Given the description of an element on the screen output the (x, y) to click on. 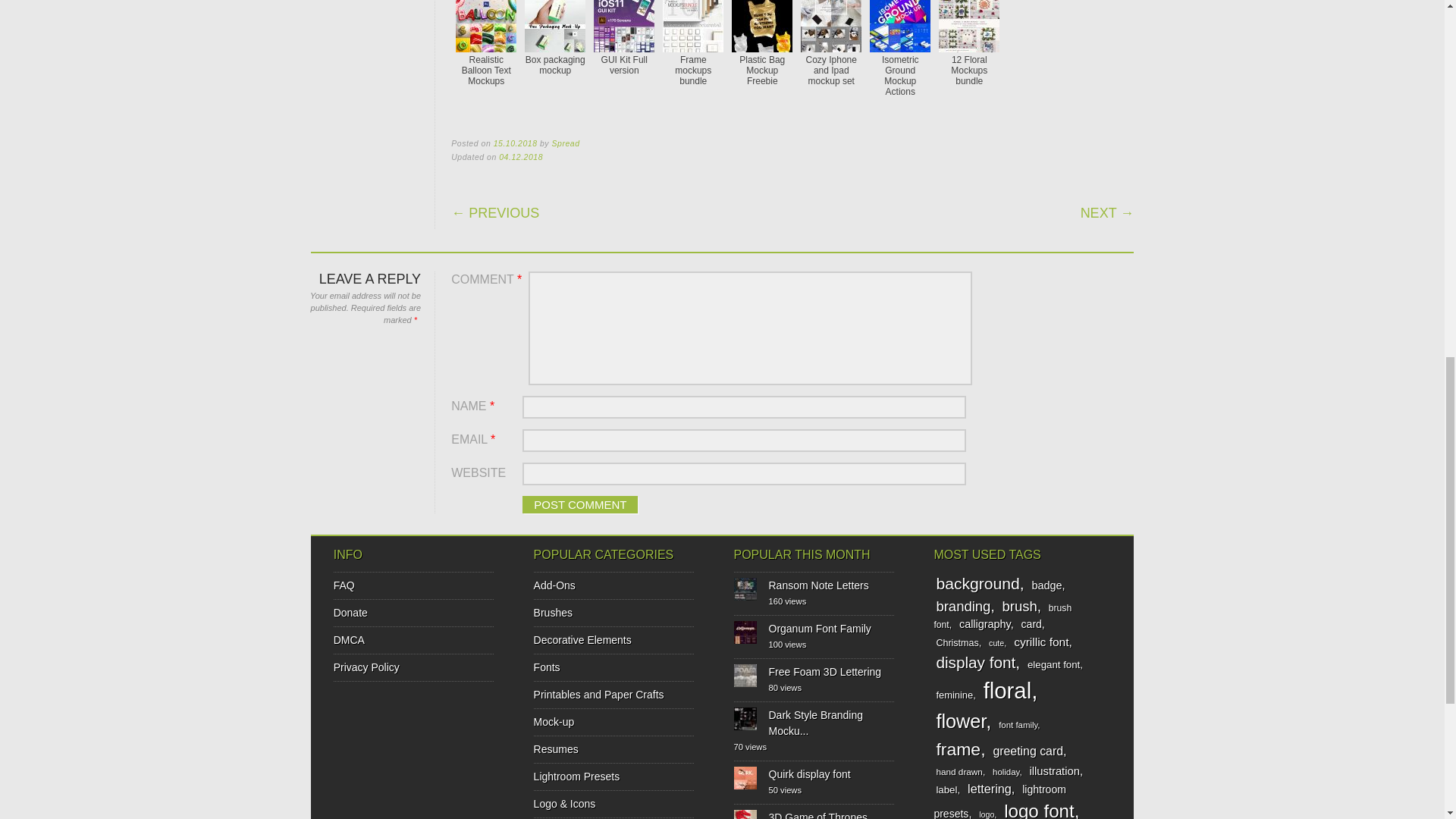
Post Comment (579, 504)
